Given the description of an element on the screen output the (x, y) to click on. 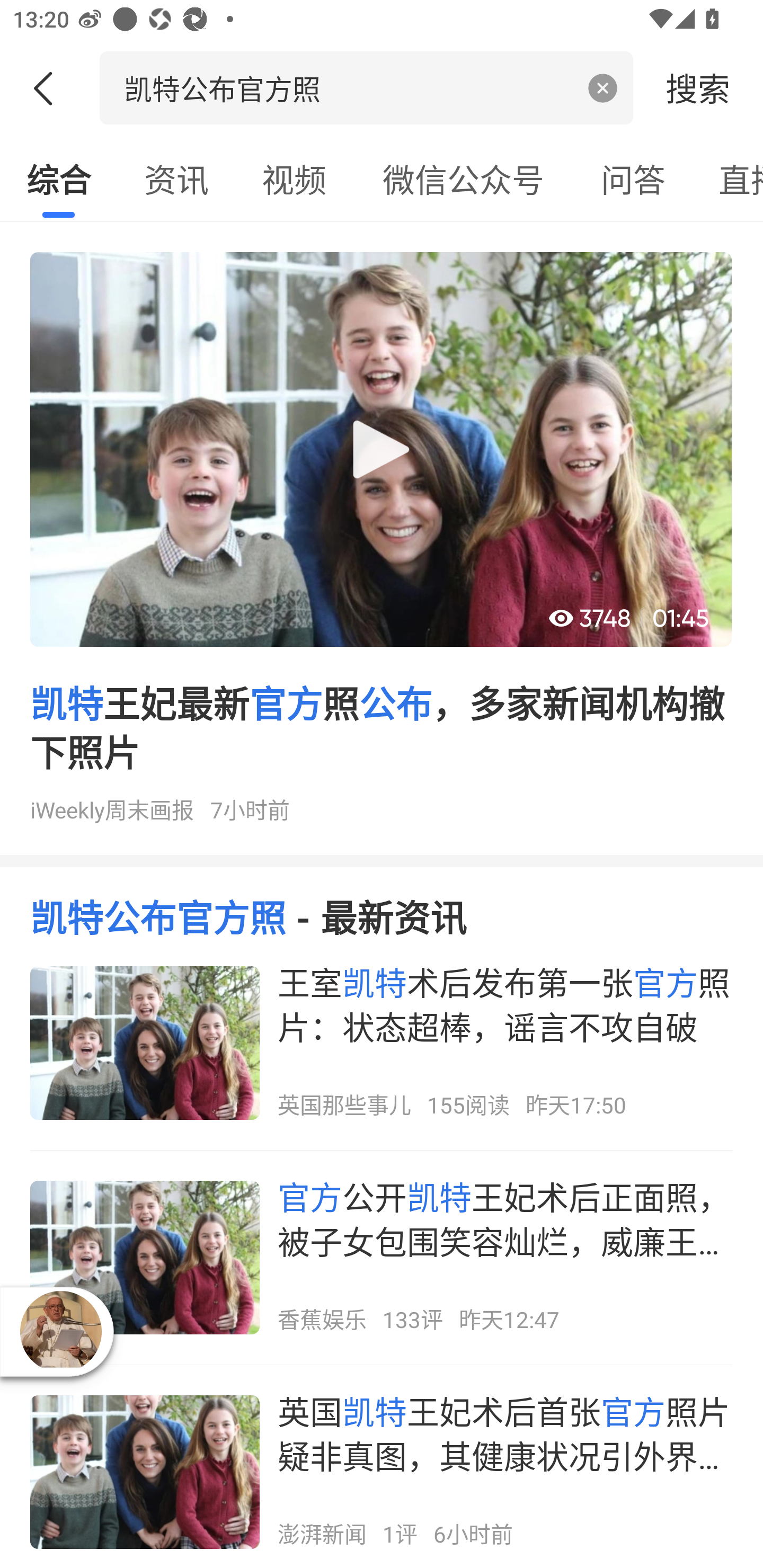
返回 (49, 87)
搜索 (698, 87)
凯特公布官方照 (347, 87)
清空 (602, 88)
已选中综合 (58, 179)
资讯，可选中 (176, 179)
视频，可选中 (293, 179)
微信公众号，可选中 (463, 179)
问答，可选中 (633, 179)
凯特王妃最新官方照公布，多家新闻机构撤下照片 (381, 544)
王室凯特术后发布第一张官方照片：状态超棒，谣言不攻自破 (381, 1042)
官方公开凯特王妃术后正面照，被子女包围笑容灿烂，威廉王子亲自拍摄 (381, 1257)
播放器 (60, 1331)
英国凯特王妃术后首张官方照片疑非真图，其健康状况引外界猜测 (381, 1472)
